Given the description of an element on the screen output the (x, y) to click on. 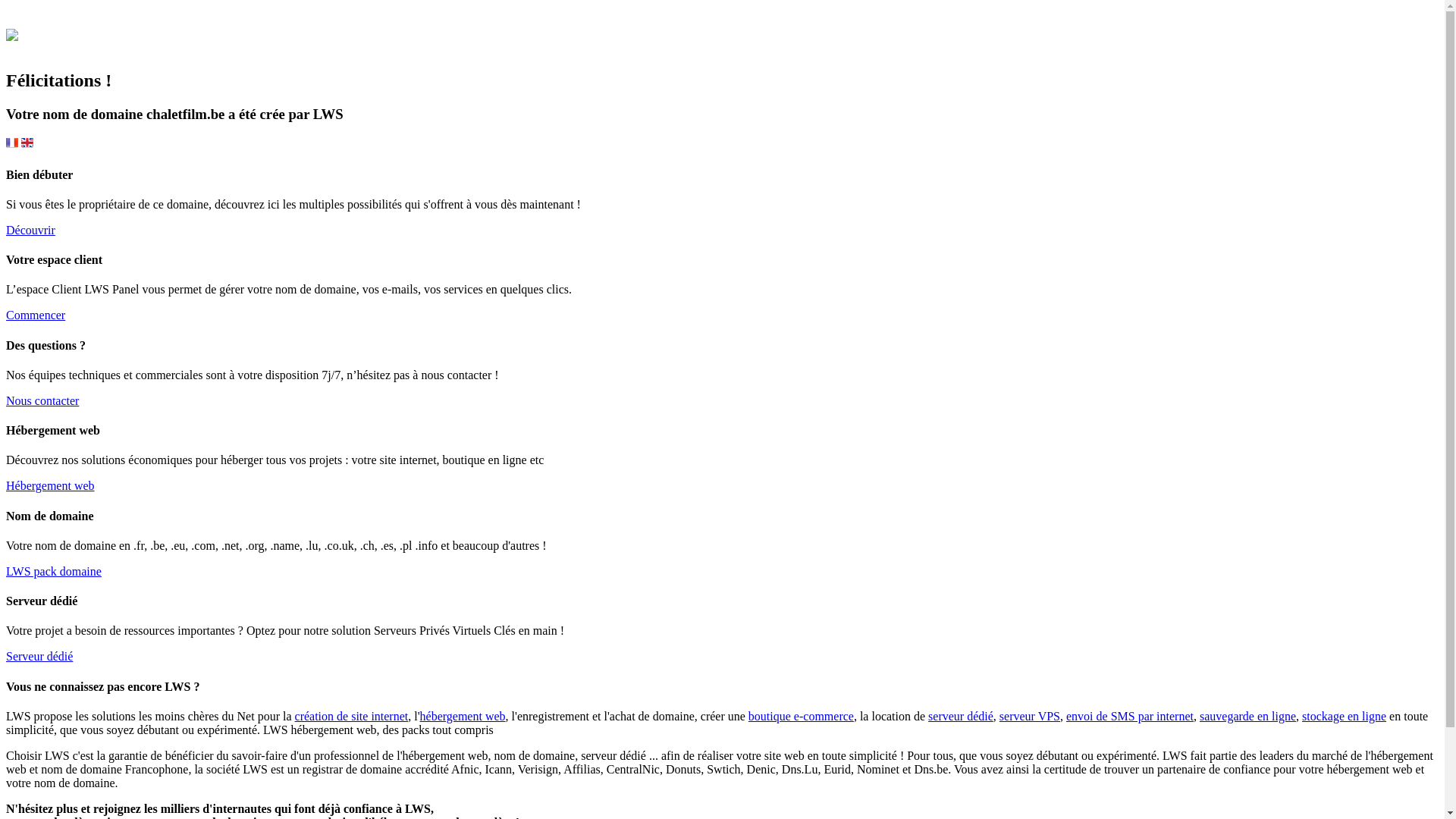
LWS pack domaine Element type: text (53, 570)
Commencer Element type: text (35, 314)
envoi de SMS par internet Element type: text (1129, 715)
stockage en ligne Element type: text (1344, 715)
Nous contacter Element type: text (42, 400)
serveur VPS Element type: text (1029, 715)
sauvegarde en ligne Element type: text (1247, 715)
boutique e-commerce Element type: text (800, 715)
